Given the description of an element on the screen output the (x, y) to click on. 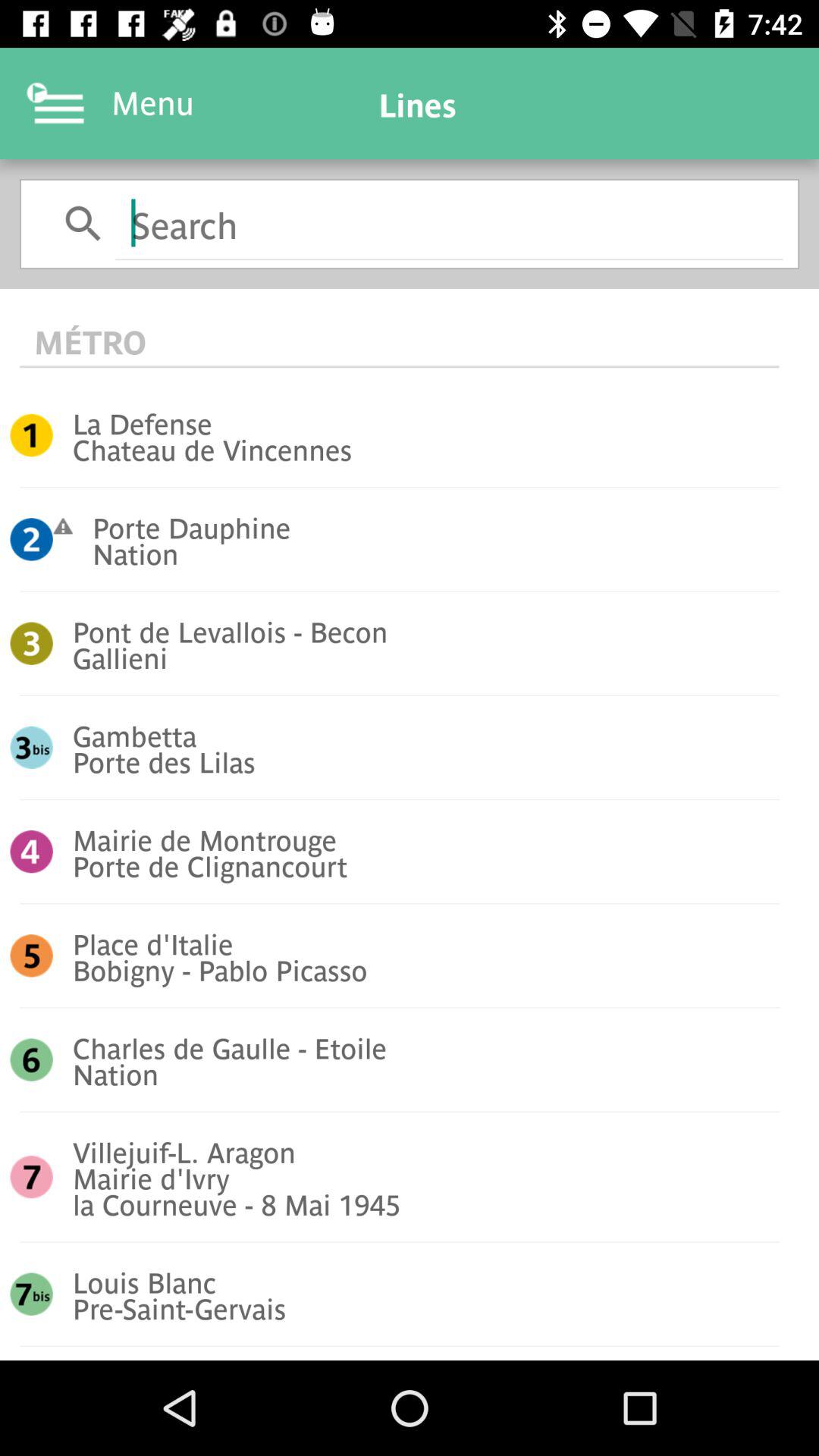
search list (449, 222)
